Given the description of an element on the screen output the (x, y) to click on. 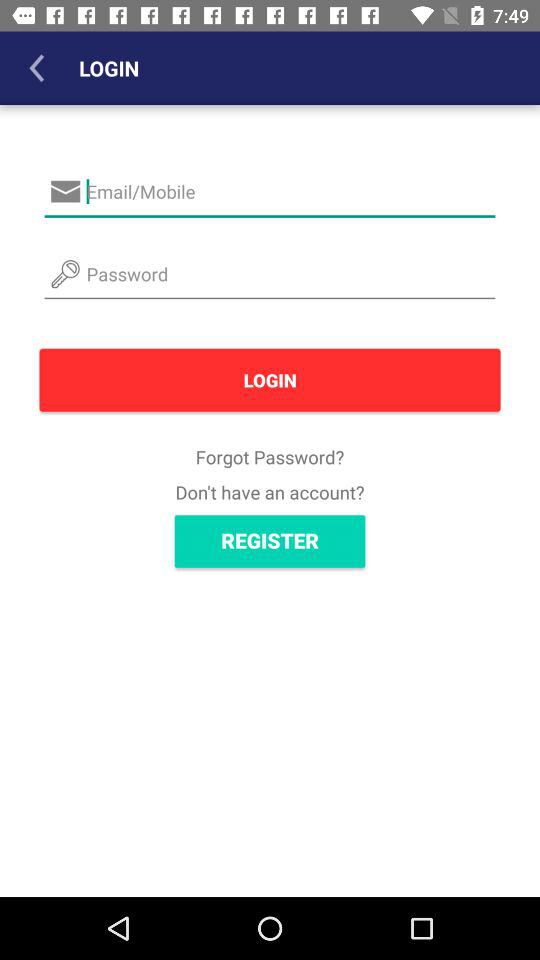
click the item below the forgot password? (269, 492)
